Given the description of an element on the screen output the (x, y) to click on. 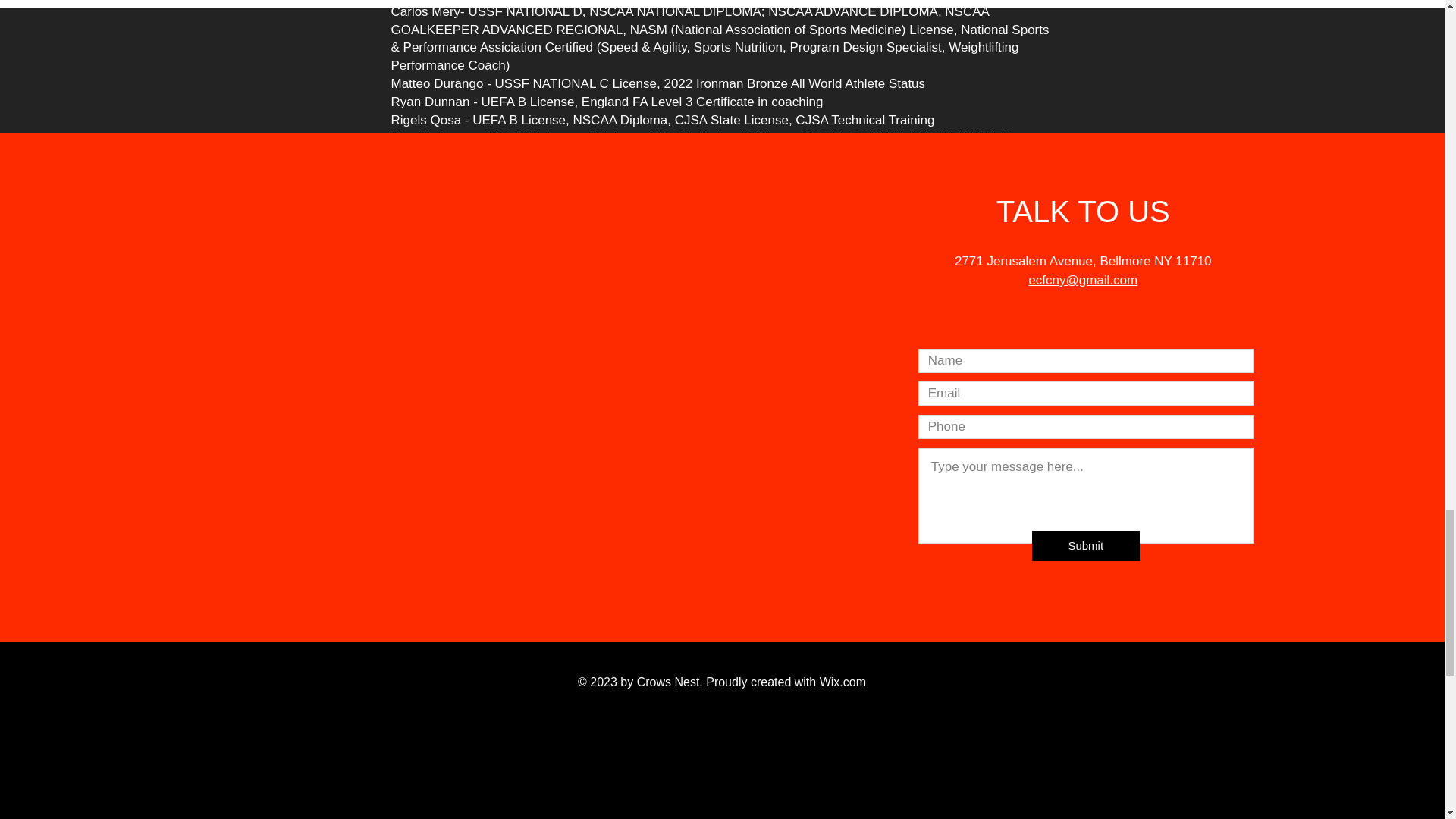
Submit (1086, 545)
Wix.com (842, 681)
